Given the description of an element on the screen output the (x, y) to click on. 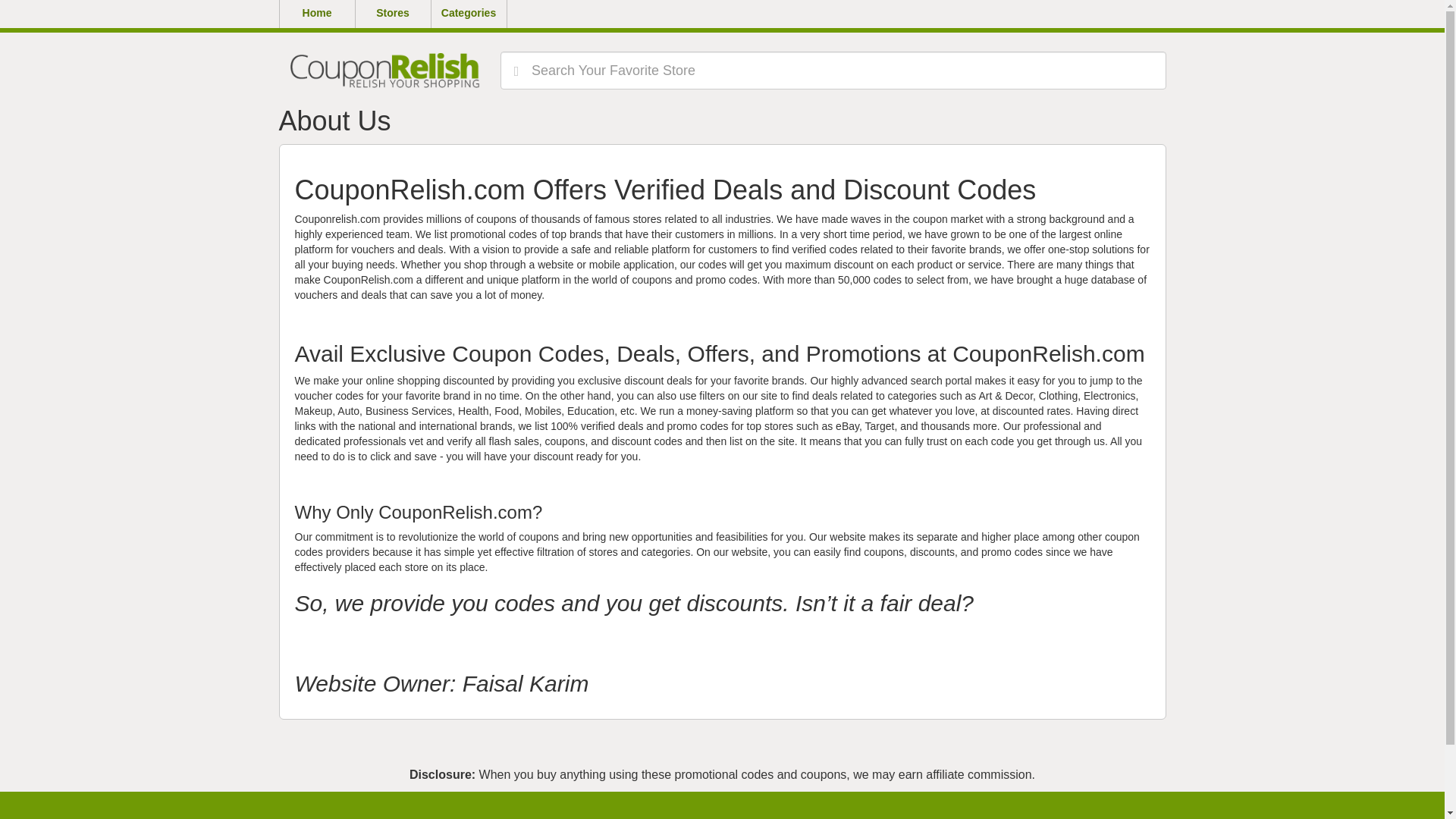
Categories (468, 13)
Home (317, 13)
Stores (392, 13)
